Given the description of an element on the screen output the (x, y) to click on. 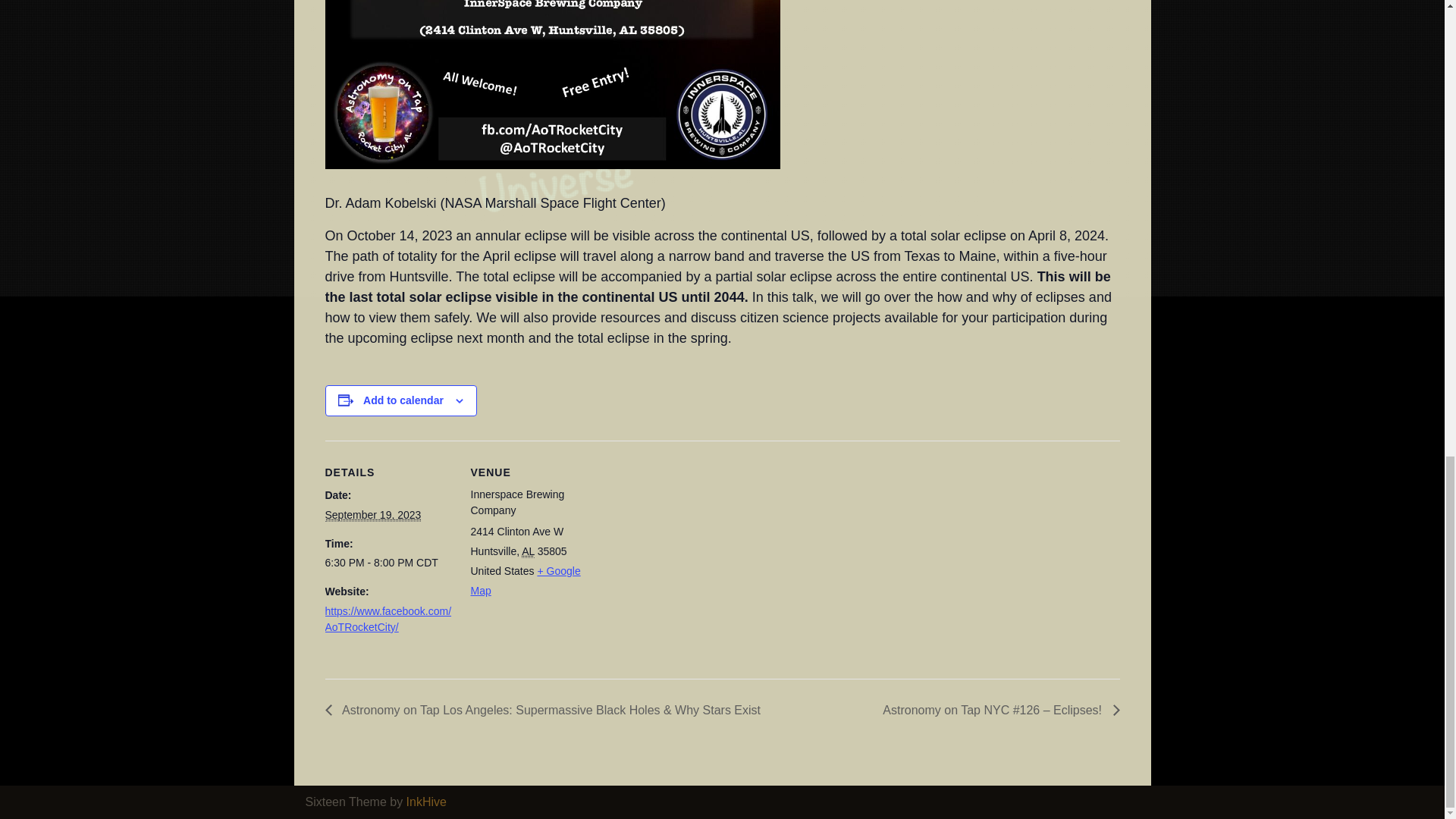
2023-09-19 (387, 562)
Click to view a Google Map (524, 581)
2023-09-19 (372, 514)
Add to calendar (403, 399)
Alabama (527, 551)
